Given the description of an element on the screen output the (x, y) to click on. 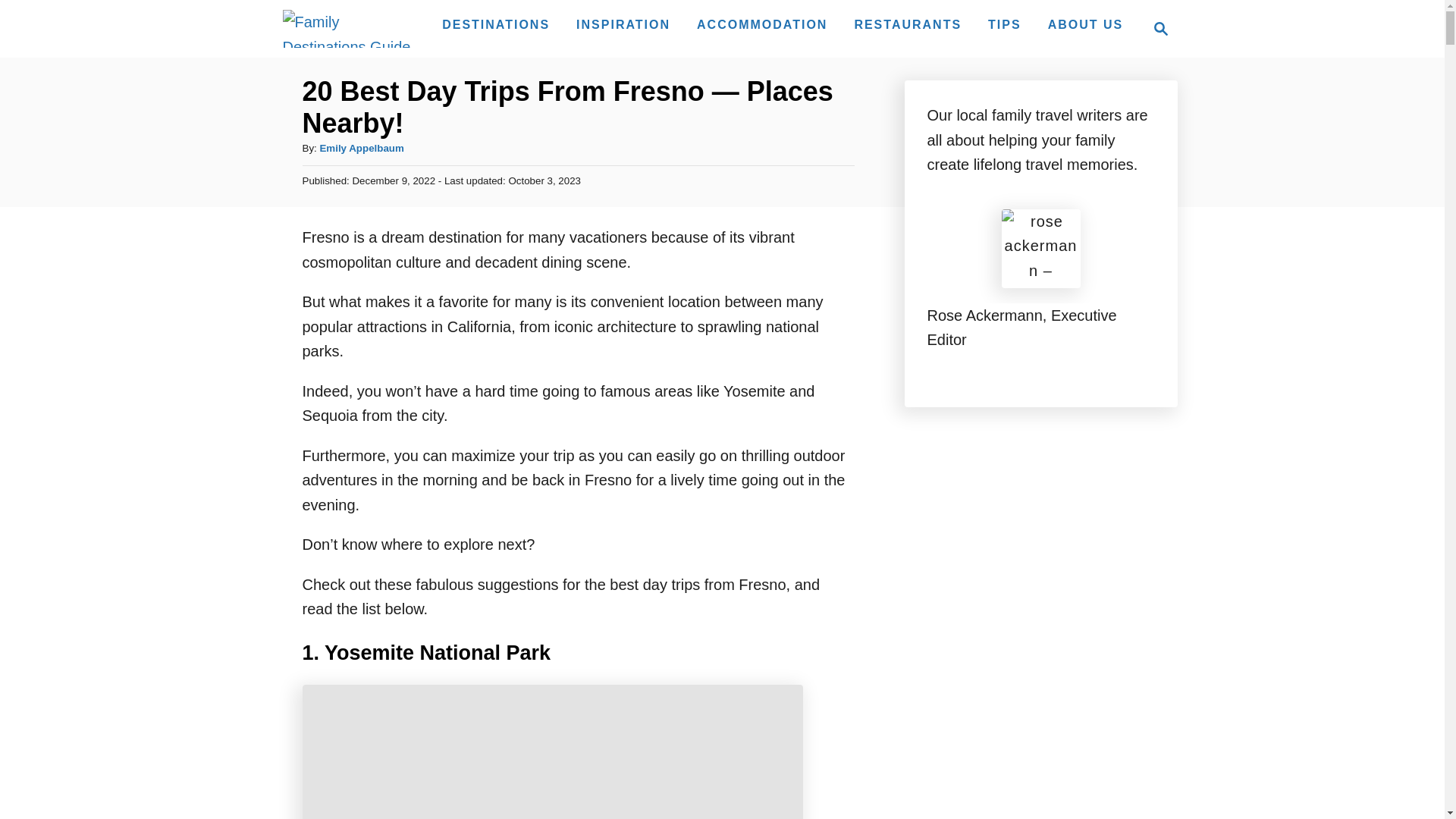
INSPIRATION (623, 24)
ACCOMMODATION (1155, 28)
RESTAURANTS (761, 24)
Magnifying Glass (907, 24)
TIPS (1160, 28)
DESTINATIONS (1004, 24)
ABOUT US (495, 24)
Family Destinations Guide (1086, 24)
Emily Appelbaum (349, 28)
